Given the description of an element on the screen output the (x, y) to click on. 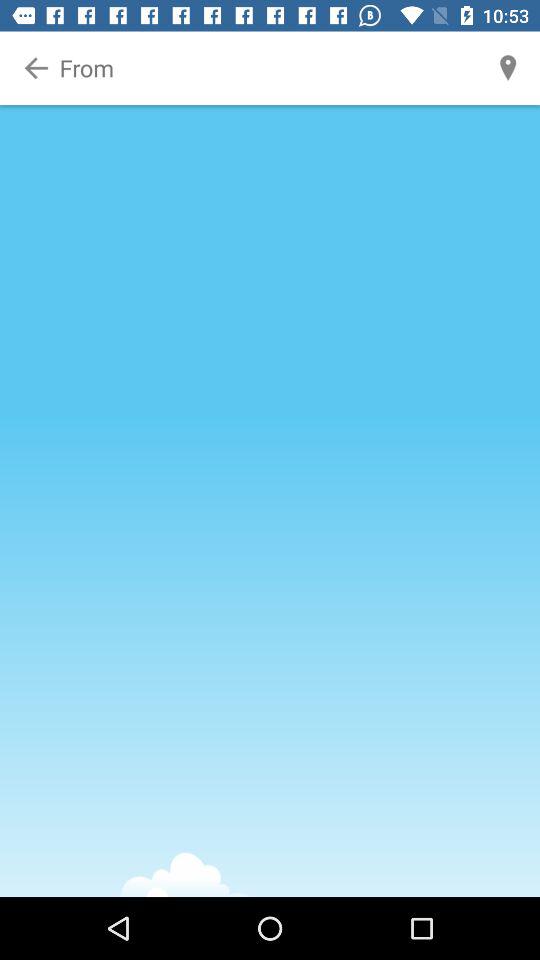
enter from location (271, 68)
